Given the description of an element on the screen output the (x, y) to click on. 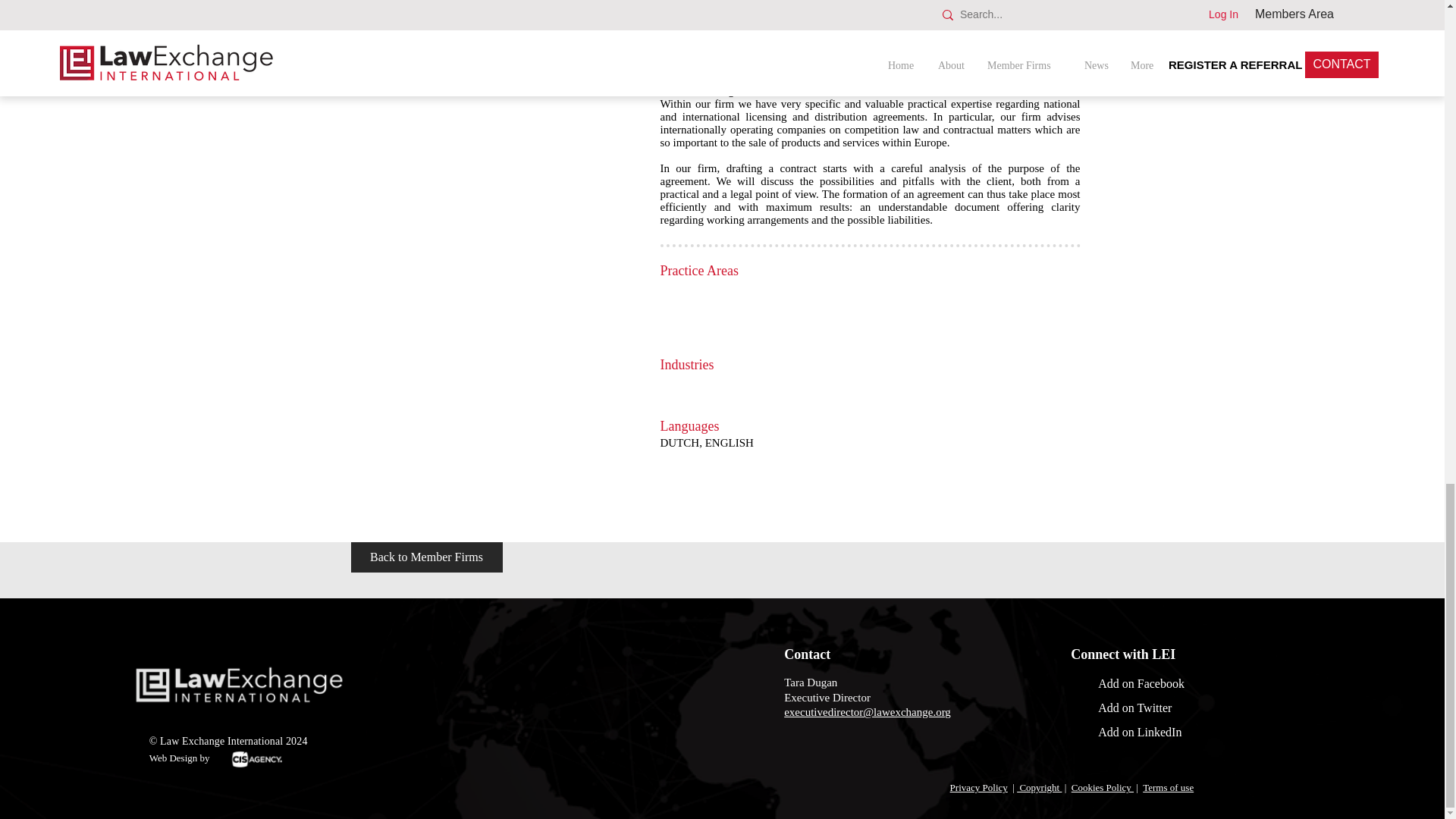
CIS Agency (256, 758)
Back to Member Firms (426, 557)
Privacy Policy (978, 787)
Terms of use (1167, 787)
LawExchange International (239, 684)
 Copyright  (1038, 787)
Cookies Policy  (1102, 787)
